Given the description of an element on the screen output the (x, y) to click on. 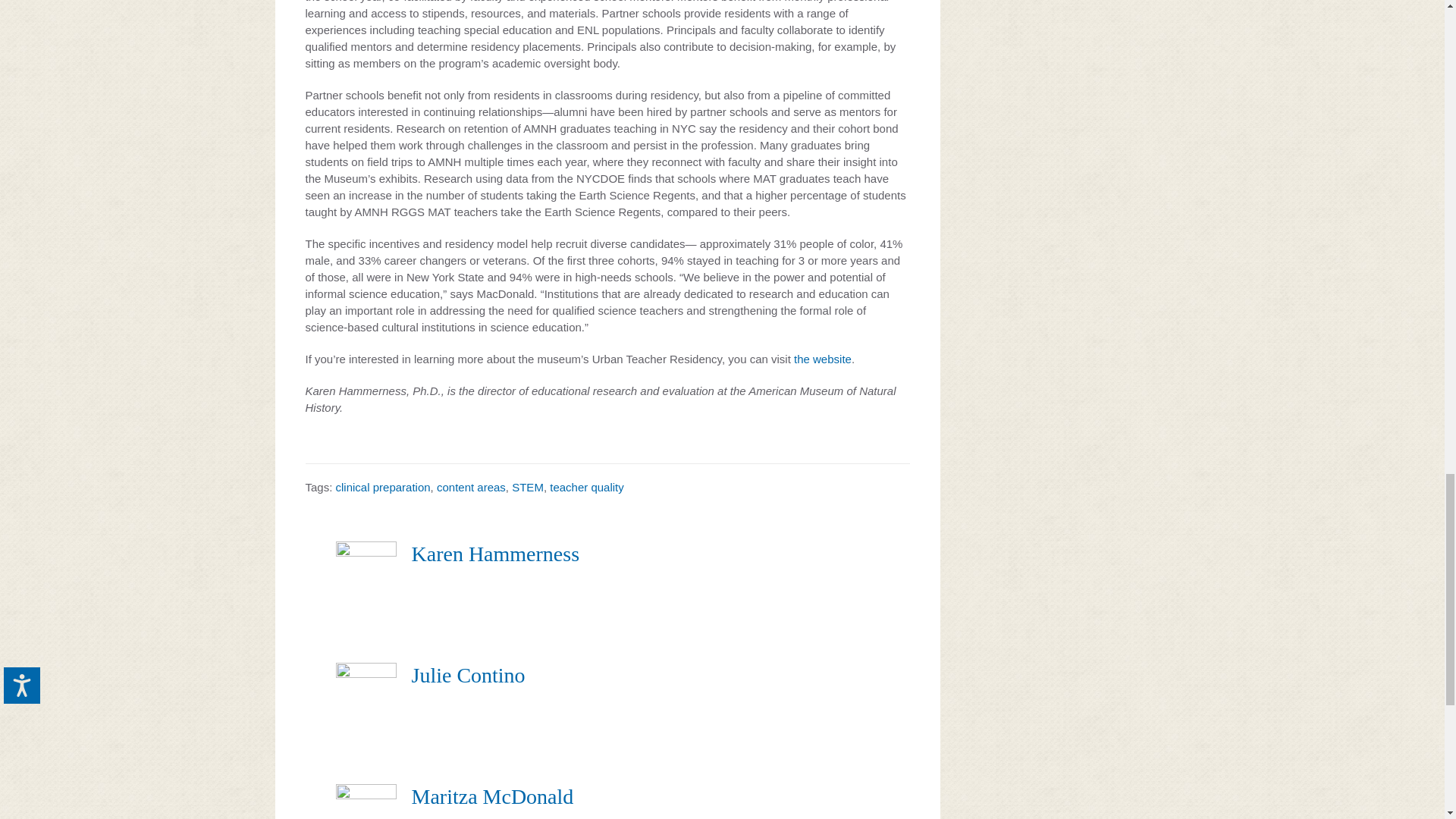
content areas (470, 486)
the website (822, 358)
teacher quality (587, 486)
STEM (527, 486)
clinical preparation (383, 486)
